Given the description of an element on the screen output the (x, y) to click on. 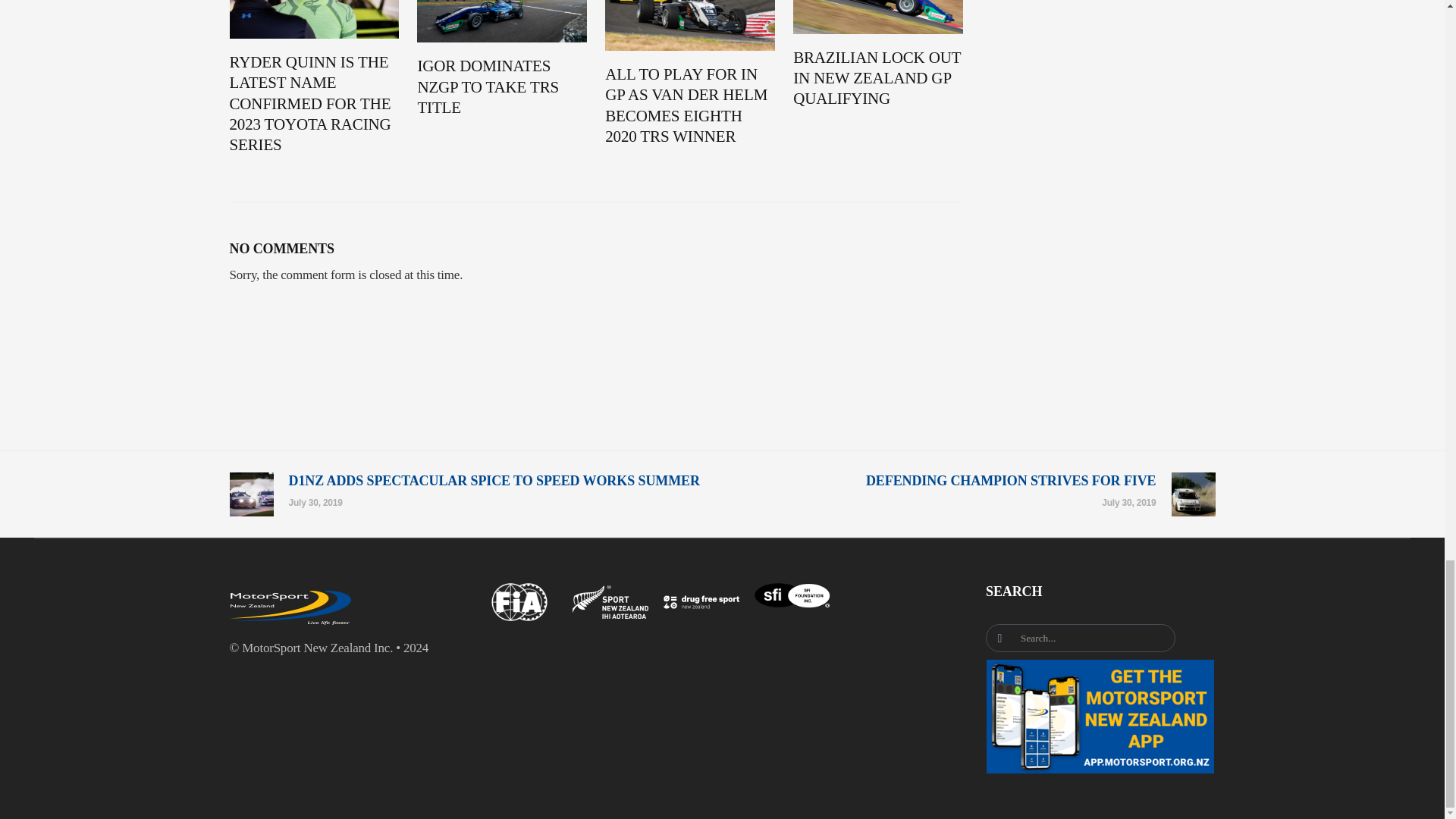
Igor dominates NZGP to take TRS title (501, 86)
Brazilian lock out in New Zealand GP qualifying (877, 78)
